Given the description of an element on the screen output the (x, y) to click on. 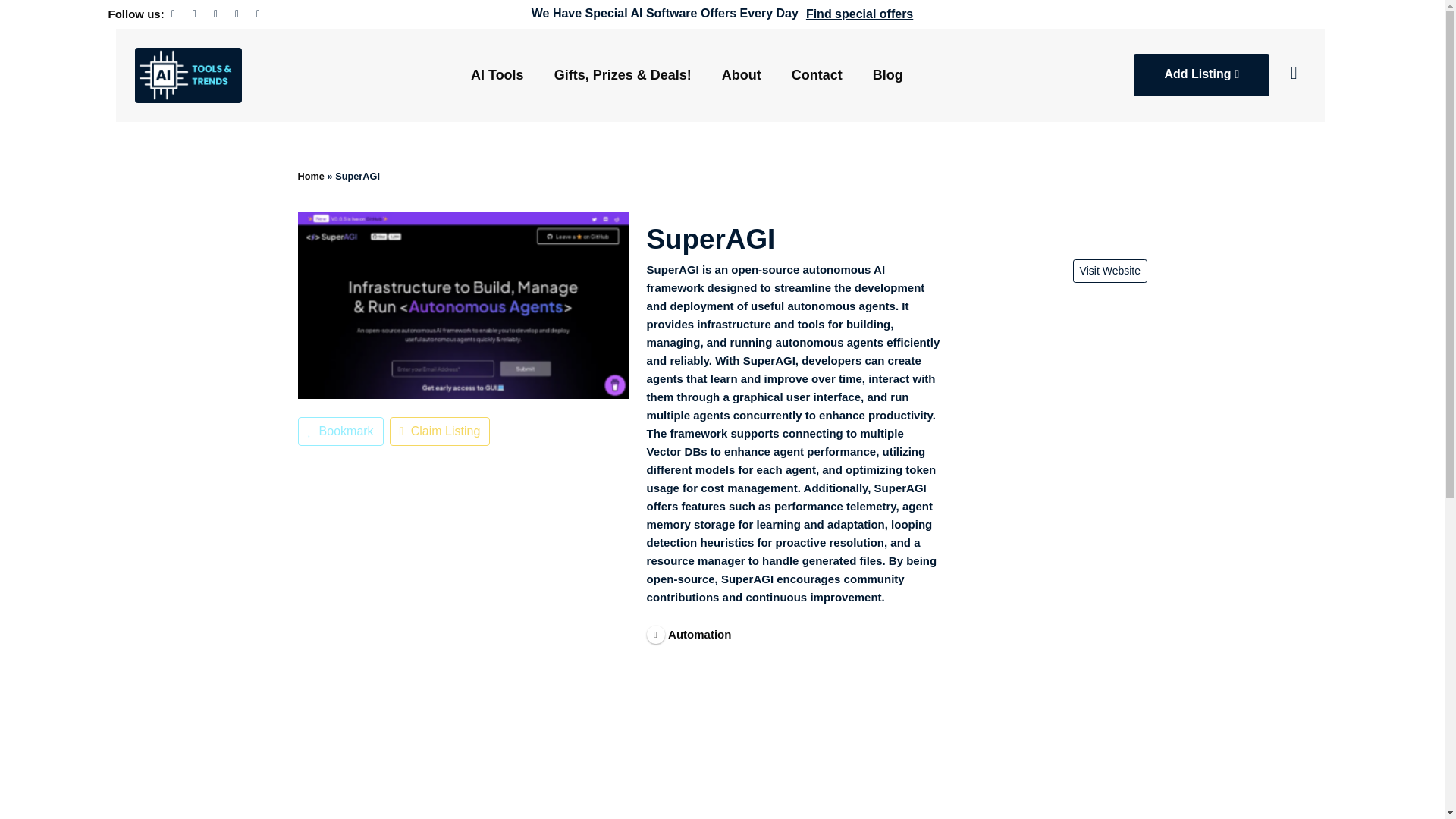
Contact (816, 74)
AI Tools (496, 74)
Claim Listing (438, 430)
Home (310, 175)
Automation (688, 633)
Automation (688, 633)
Find special offers (859, 13)
Add Listing (1201, 75)
Visit Website (1109, 270)
Bookmark (339, 430)
